Given the description of an element on the screen output the (x, y) to click on. 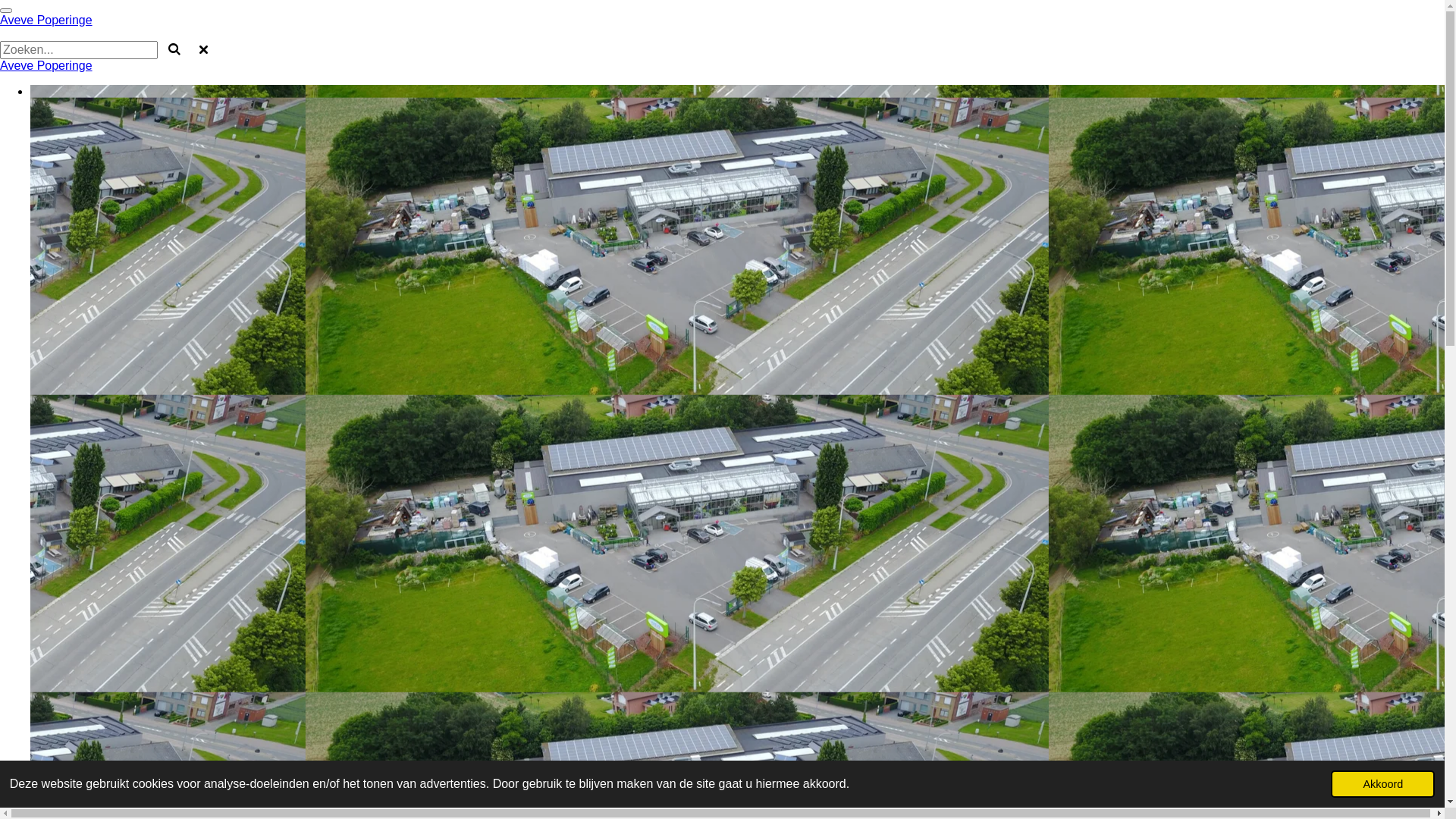
Akkoord Element type: text (1382, 783)
Aveve Poperinge Element type: text (46, 19)
Aveve Poperinge Element type: text (46, 65)
